Given the description of an element on the screen output the (x, y) to click on. 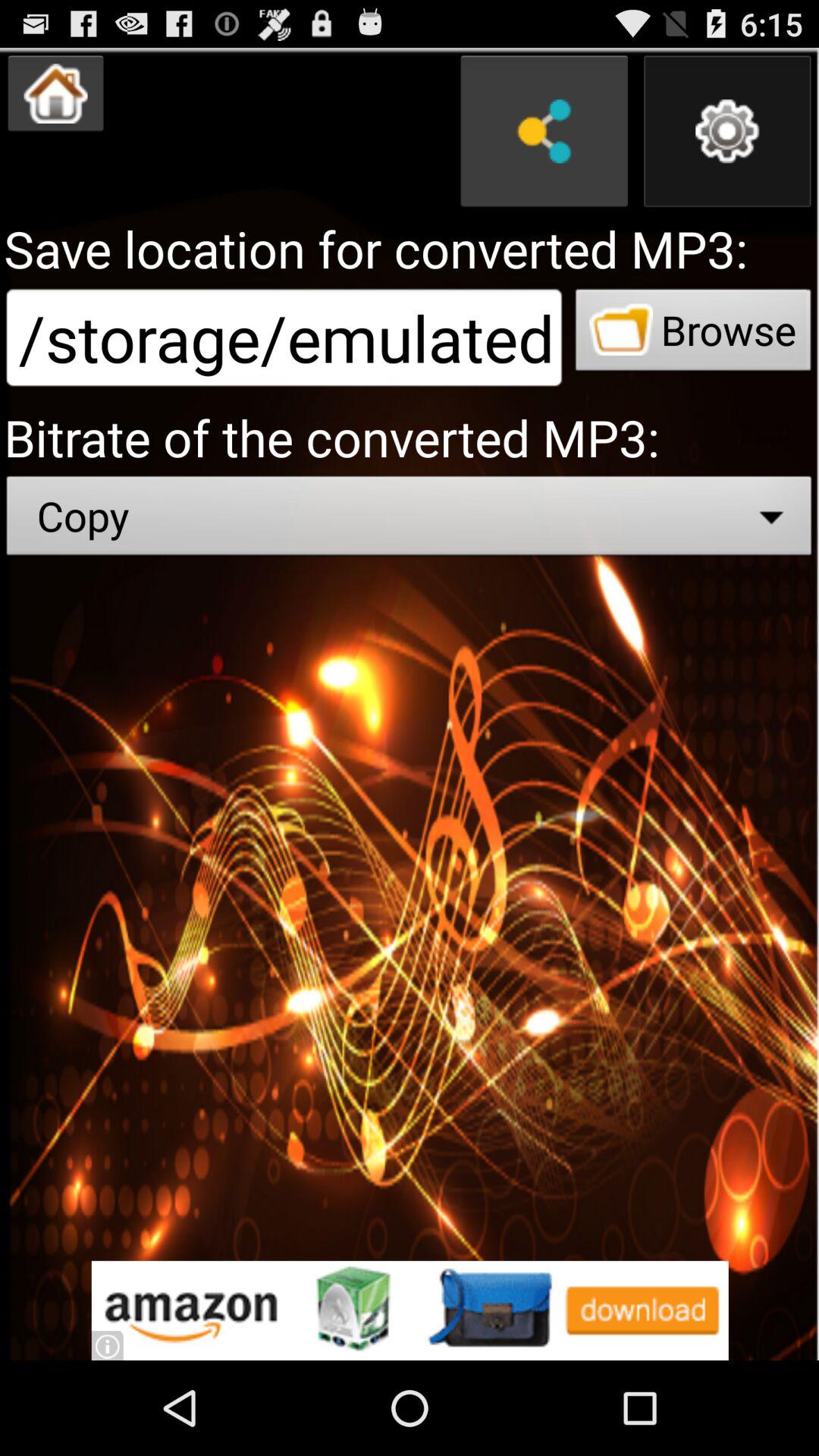
go home (55, 93)
